Given the description of an element on the screen output the (x, y) to click on. 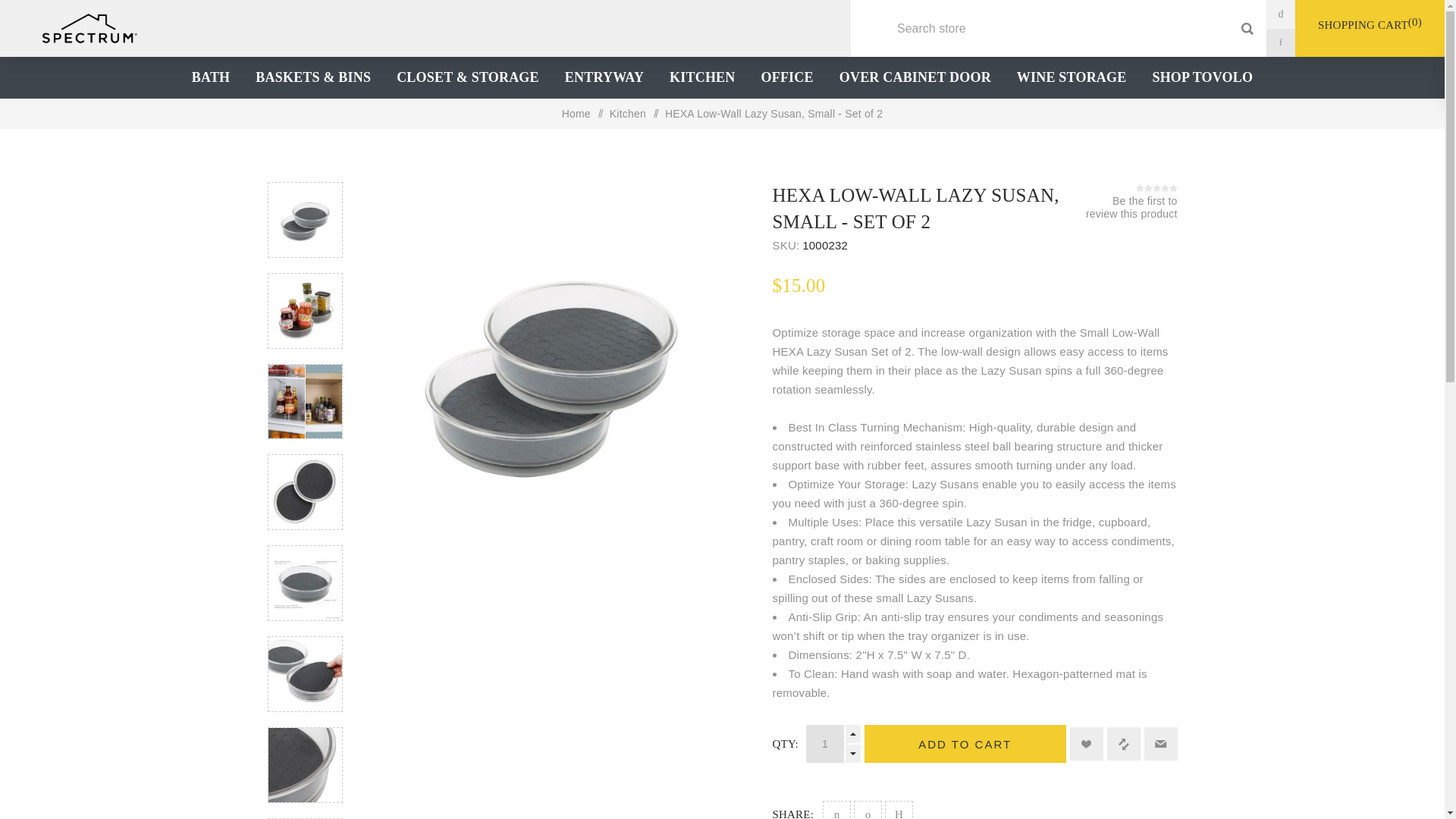
SHOPPING CART0 (1369, 22)
ENTRYWAY (603, 77)
BATH (211, 77)
1 (825, 743)
KITCHEN (702, 77)
